Given the description of an element on the screen output the (x, y) to click on. 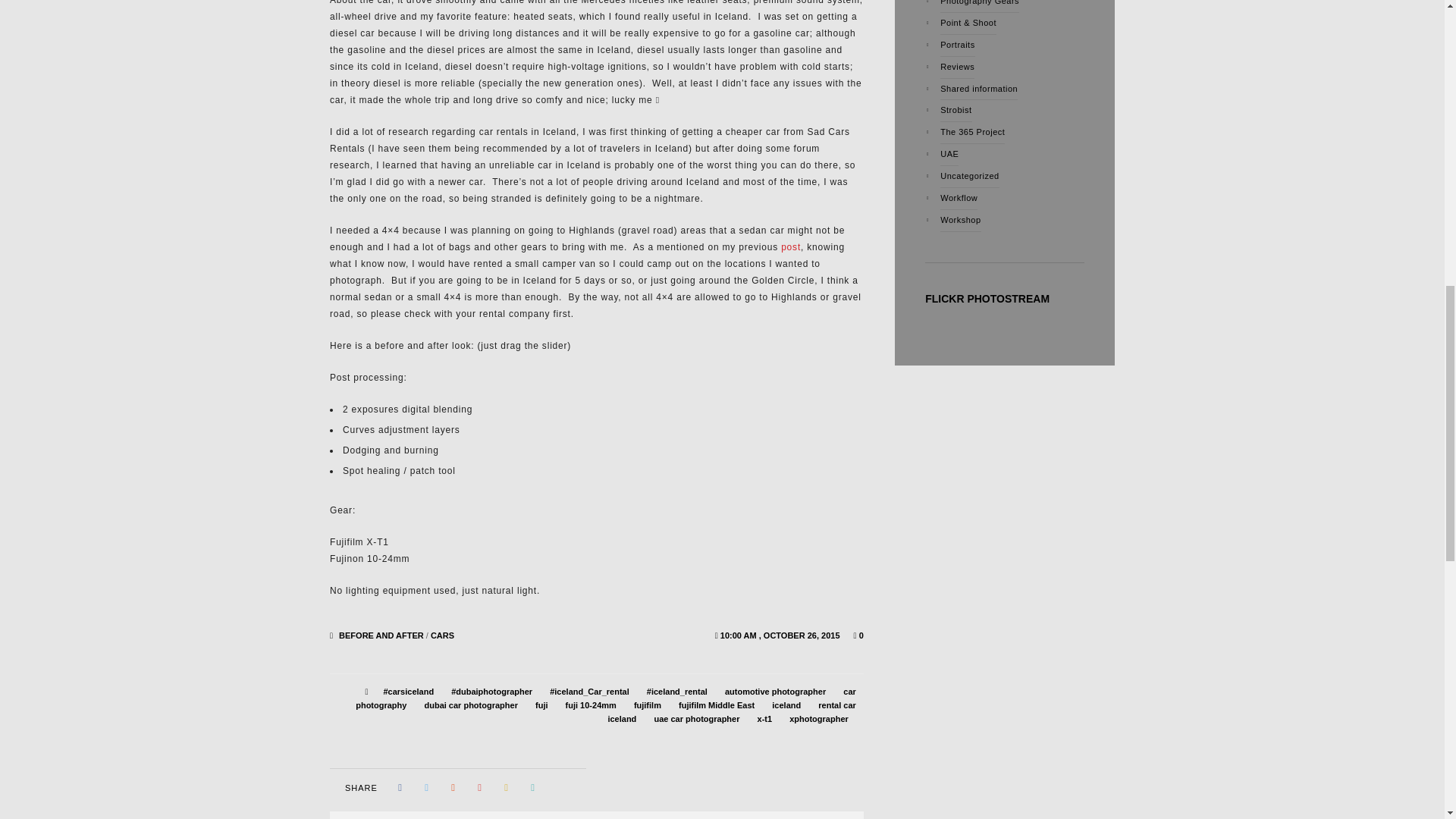
automotive photographer (774, 691)
fuji 10-24mm (590, 705)
iceland (786, 705)
dubai car photographer (470, 705)
fujifilm (647, 705)
fujifilm Middle East (716, 705)
fuji (541, 705)
rental car iceland (731, 711)
uae car photographer (696, 718)
x-t1 (764, 718)
